Given the description of an element on the screen output the (x, y) to click on. 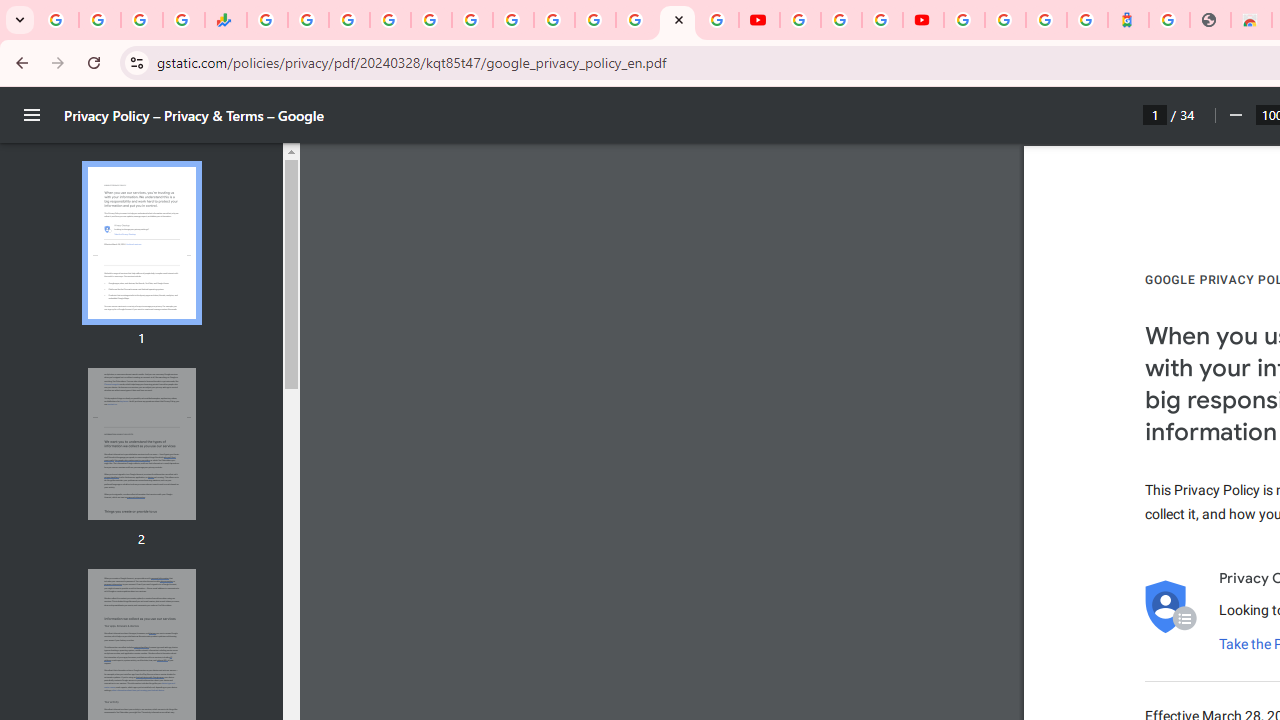
Page number (1155, 114)
AutomationID: thumbnail (141, 443)
YouTube (553, 20)
YouTube (799, 20)
Zoom out (1234, 115)
Content Creator Programs & Opportunities - YouTube Creators (923, 20)
